Given the description of an element on the screen output the (x, y) to click on. 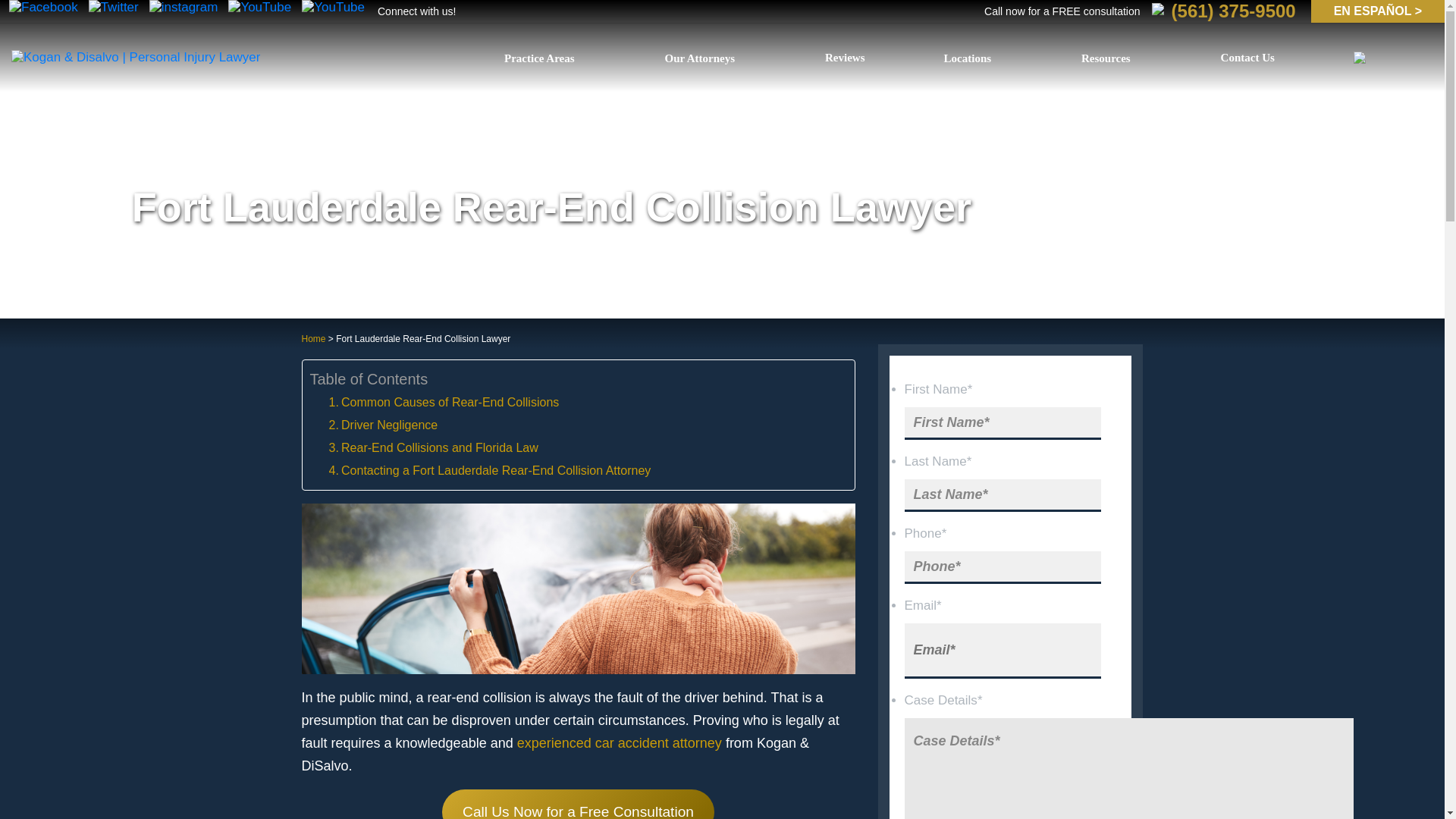
Common Causes of Rear-End Collisions (444, 402)
Rear-End Collisions and Florida Law (433, 447)
Driver Negligence (383, 425)
Contacting a Fort Lauderdale Rear-End Collision Attorney (489, 470)
Practice Areas (544, 57)
